Given the description of an element on the screen output the (x, y) to click on. 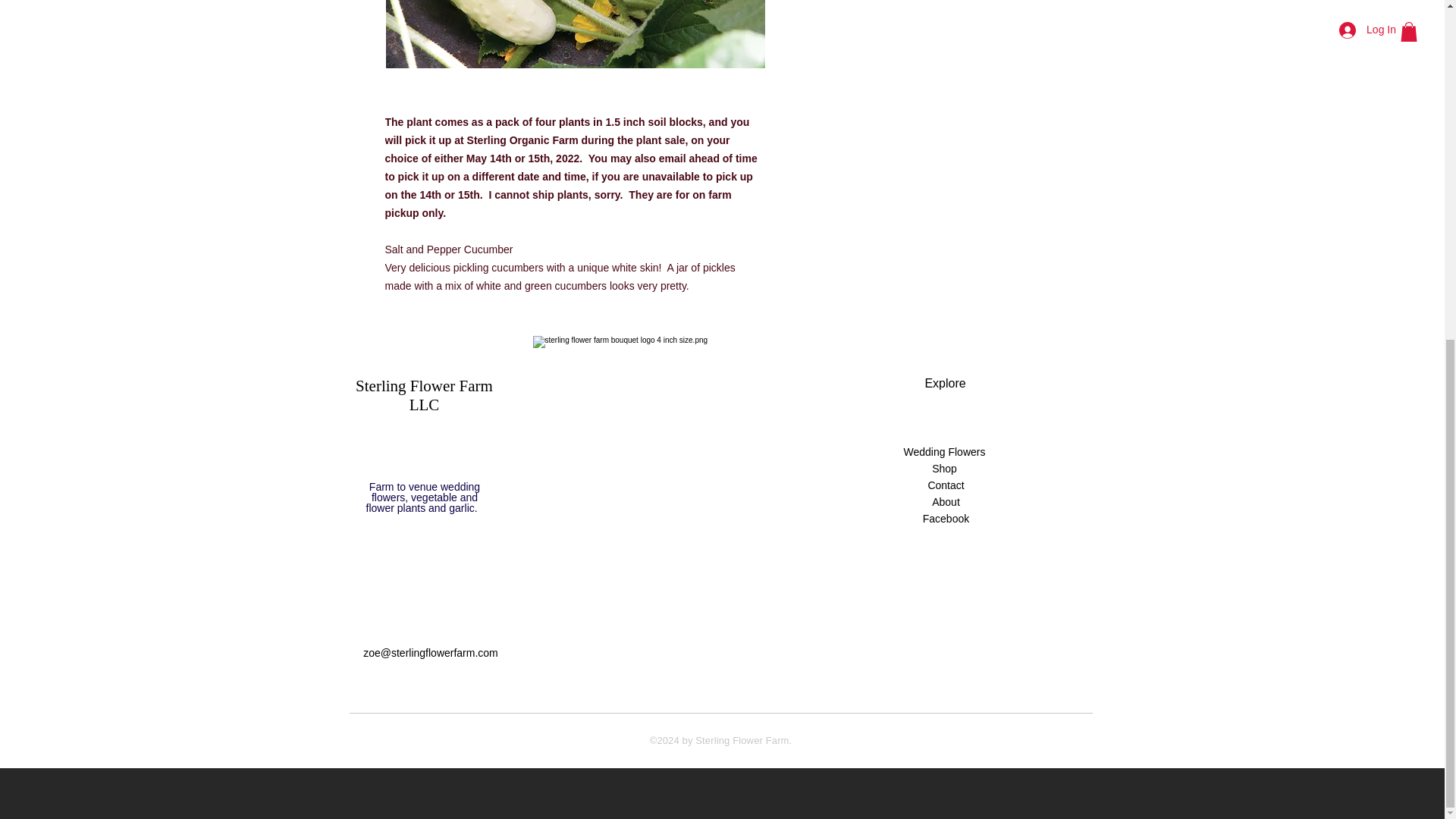
Sterling Flower Farm LLC (424, 395)
Shop (943, 469)
Contact (944, 485)
Facebook (944, 519)
Wedding Flowers (943, 452)
About (944, 502)
